Given the description of an element on the screen output the (x, y) to click on. 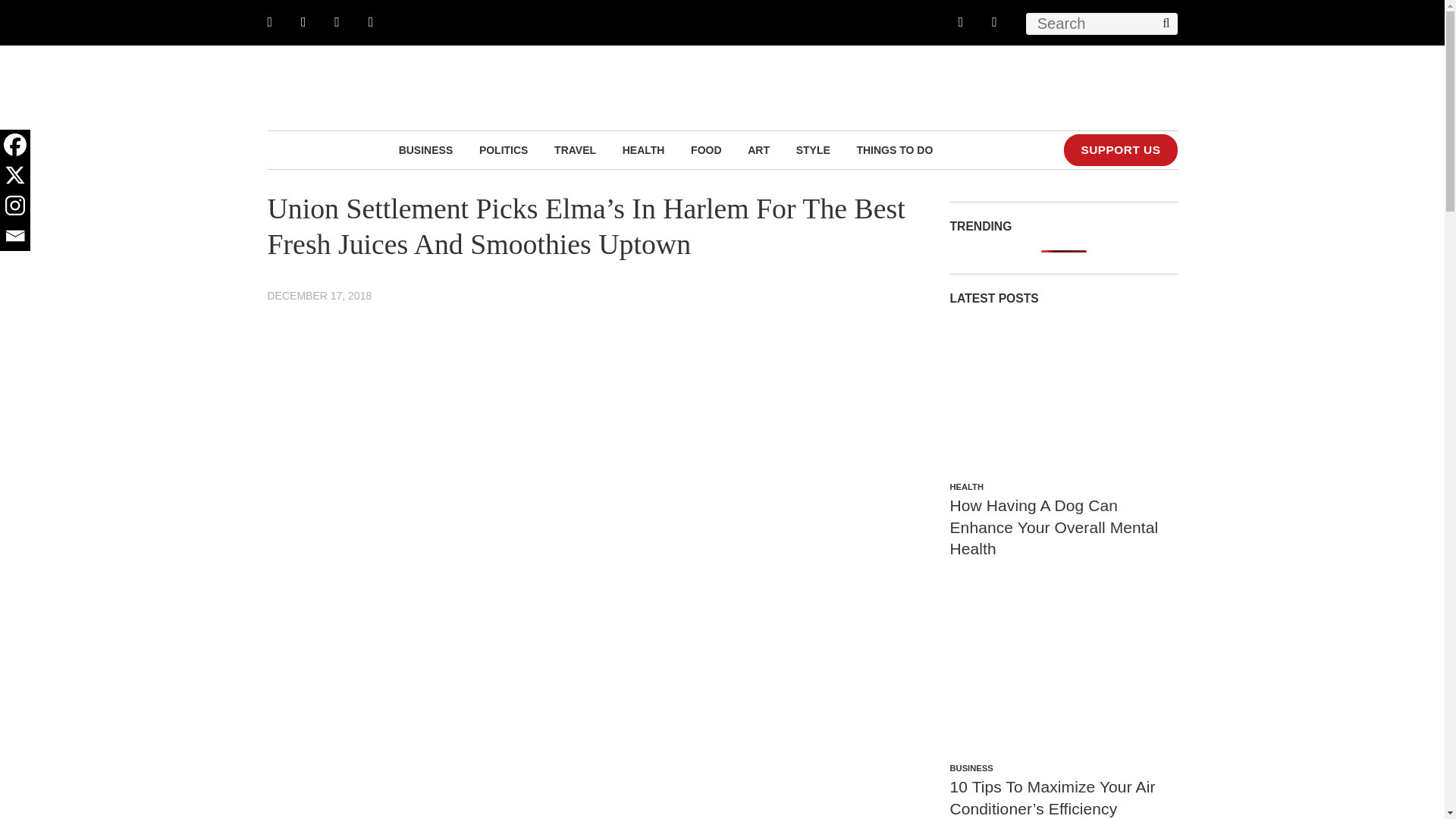
Instagram (15, 205)
TRAVEL (574, 149)
POLITICS (503, 149)
STYLE (812, 149)
BUSINESS (425, 149)
THINGS TO DO (894, 149)
HEALTH (644, 149)
SUPPORT US (1120, 150)
Email (15, 235)
Facebook (15, 144)
